Given the description of an element on the screen output the (x, y) to click on. 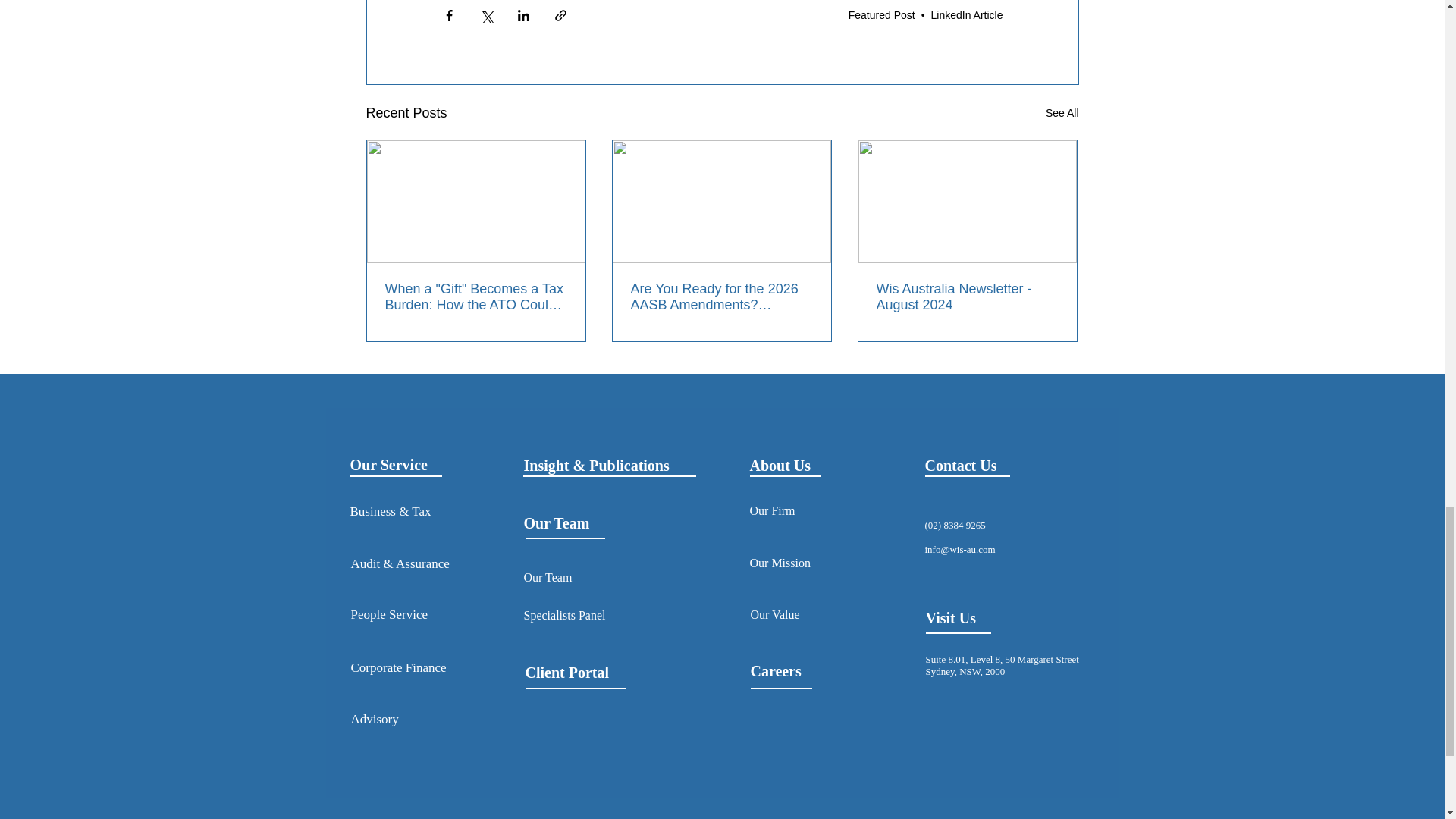
LinkedIn Article (967, 15)
See All (1061, 113)
Featured Post (881, 15)
